Given the description of an element on the screen output the (x, y) to click on. 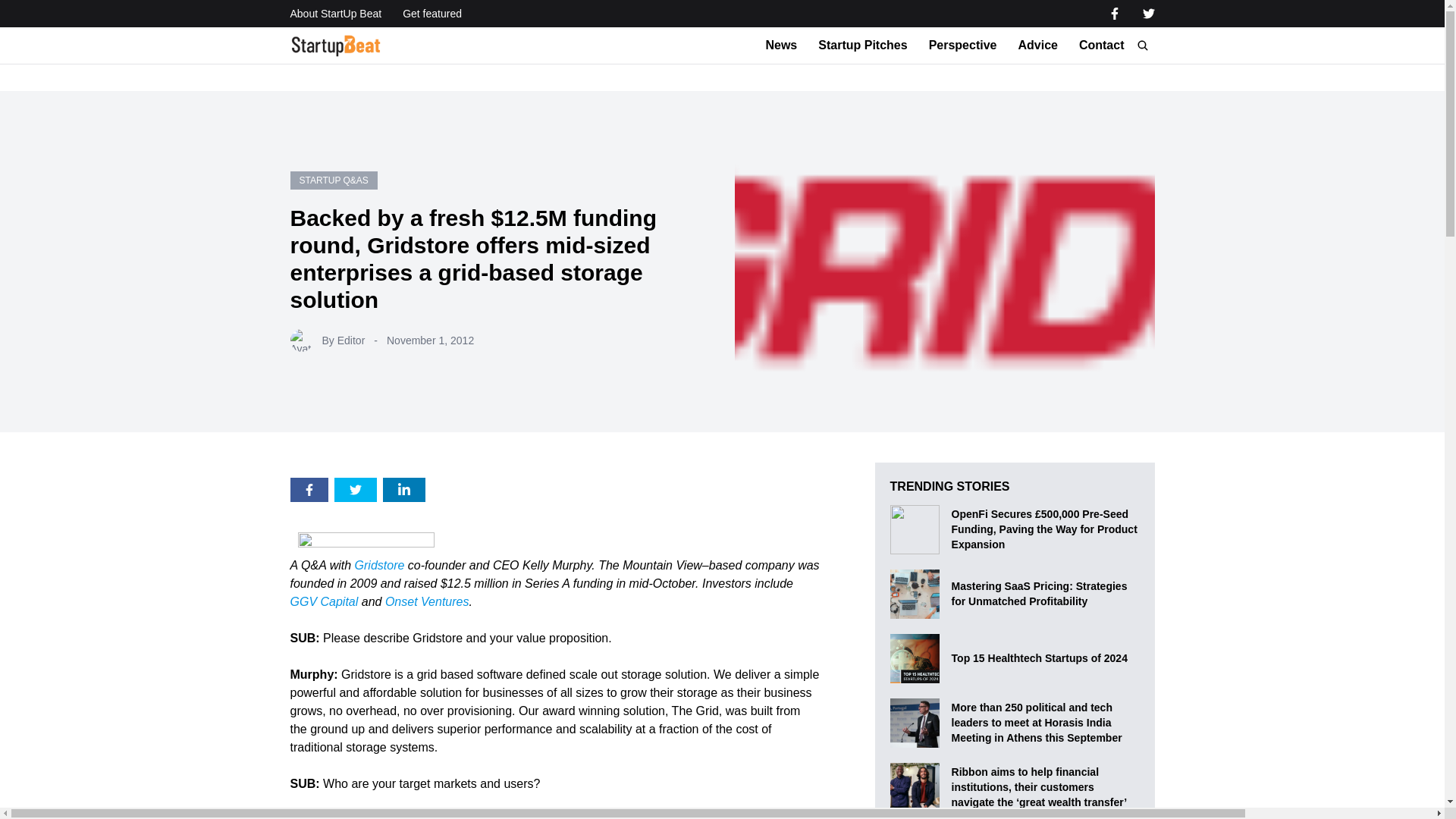
By Editor (343, 340)
Get featured (432, 13)
Contact (1101, 45)
Onset Ventures (426, 601)
Startup Pitches (862, 45)
Advice (1037, 45)
News (780, 45)
Perspective (962, 45)
GGV Capital (323, 601)
Gridstore (379, 564)
About StartUp Beat (335, 13)
